Given the description of an element on the screen output the (x, y) to click on. 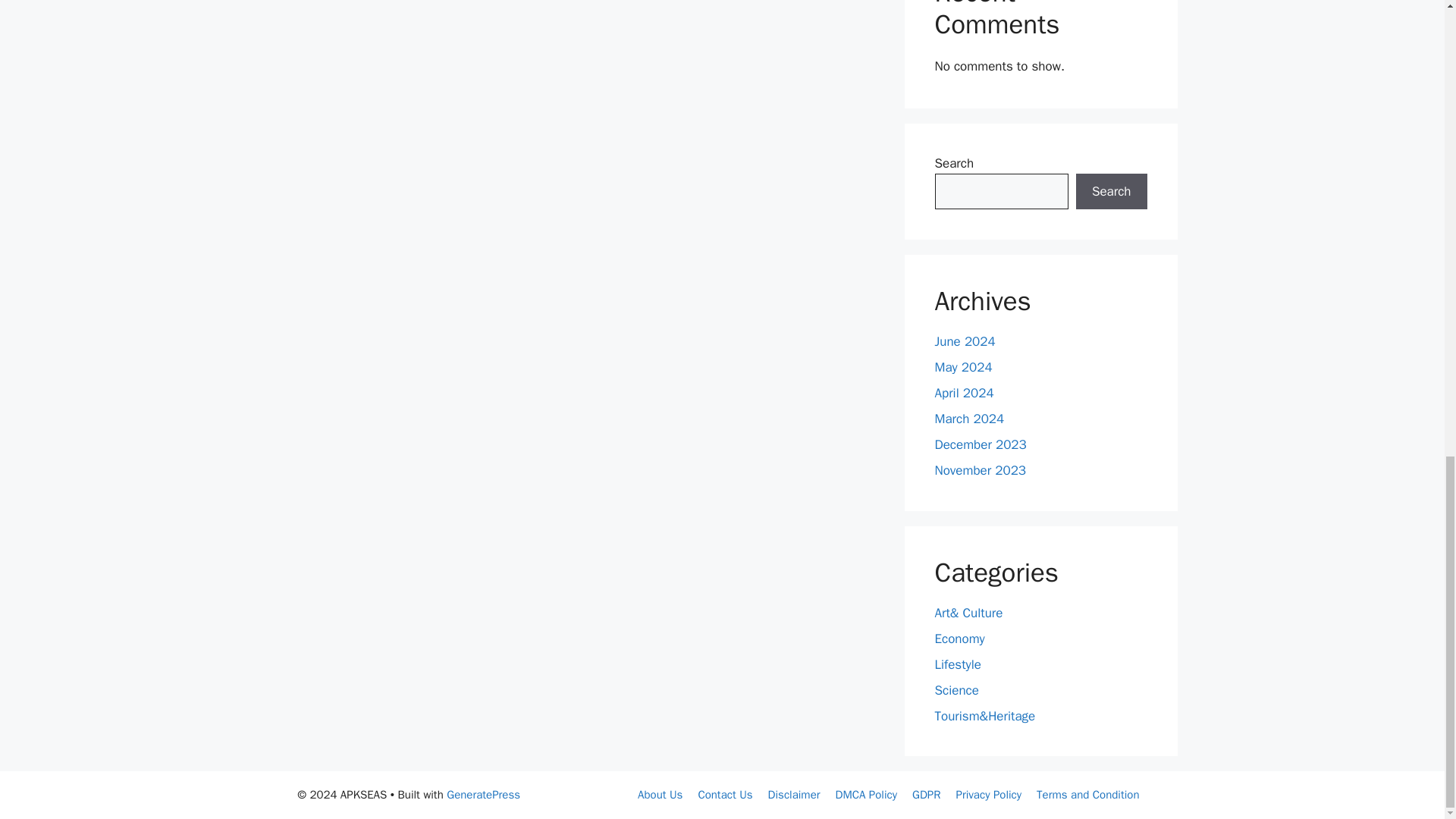
DMCA Policy (866, 794)
Science (956, 690)
About Us (659, 794)
April 2024 (963, 392)
Economy (959, 638)
GDPR (926, 794)
Search (1111, 191)
December 2023 (980, 444)
May 2024 (962, 367)
March 2024 (969, 418)
June 2024 (964, 341)
November 2023 (980, 470)
Lifestyle (956, 664)
Contact Us (724, 794)
Disclaimer (794, 794)
